Given the description of an element on the screen output the (x, y) to click on. 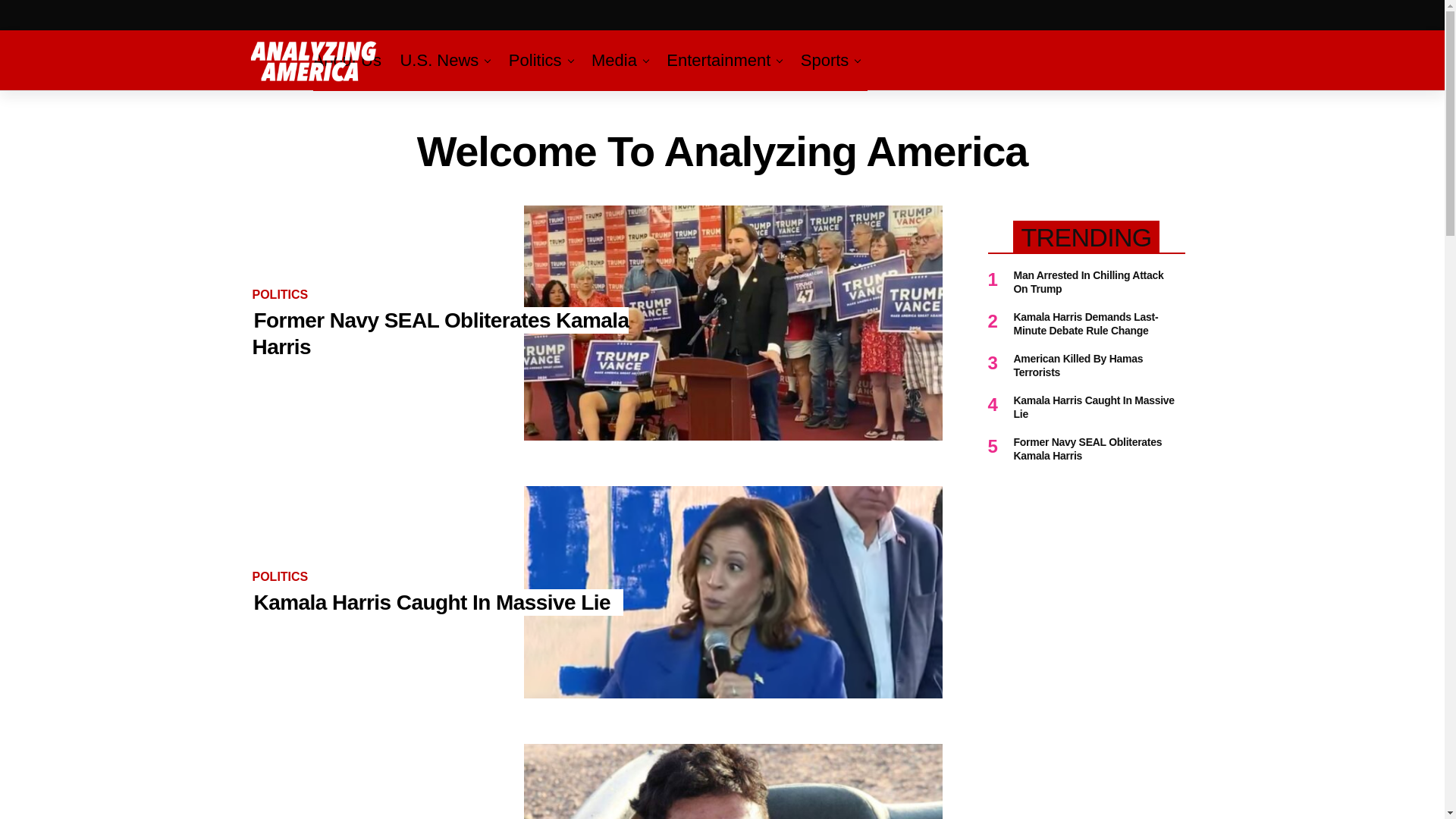
Media (614, 60)
Sports (825, 60)
U.S. News (438, 60)
Politics (534, 60)
Entertainment (718, 60)
About Us (350, 60)
